Given the description of an element on the screen output the (x, y) to click on. 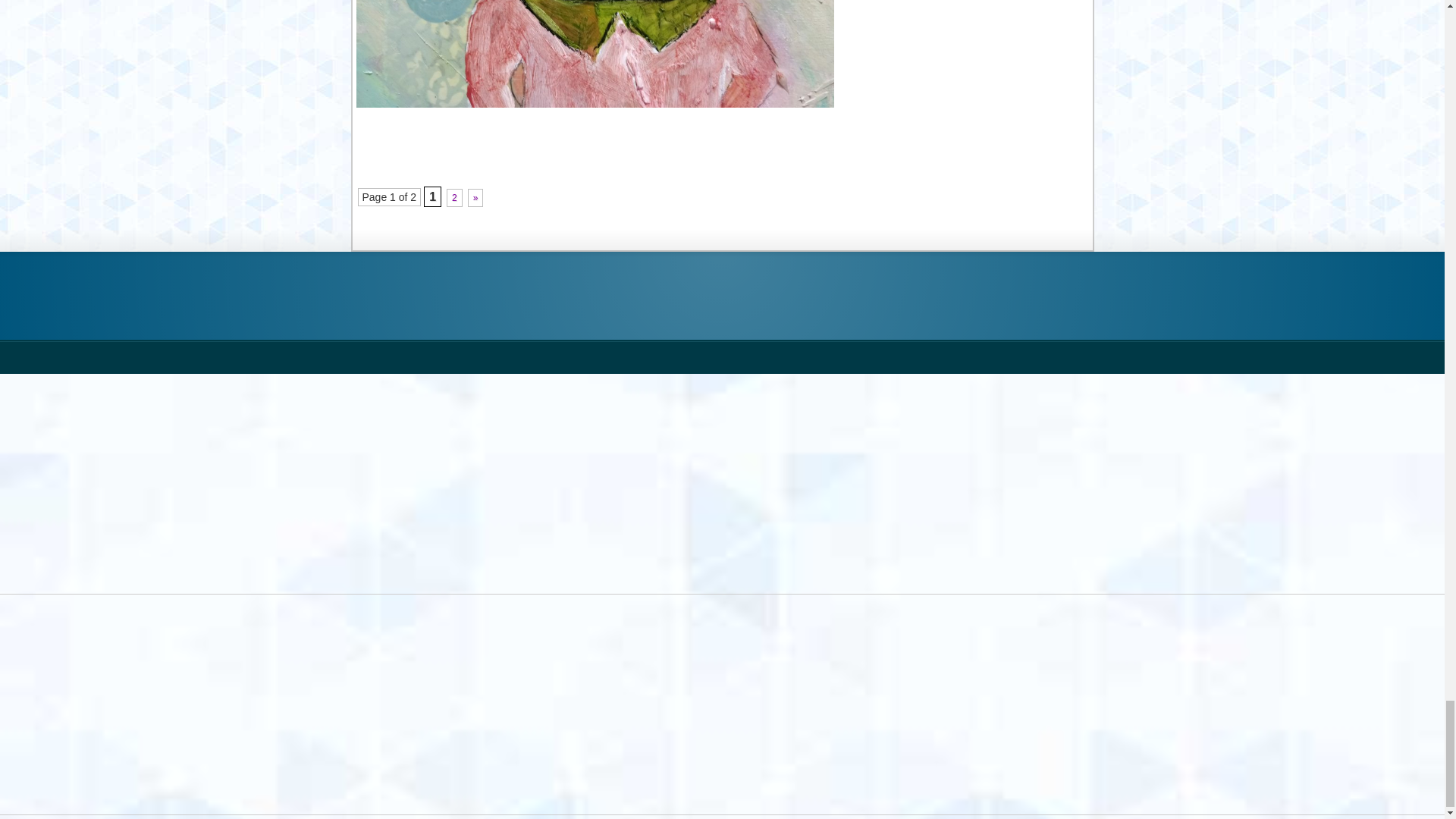
2 (454, 198)
Page 2 (454, 198)
